Given the description of an element on the screen output the (x, y) to click on. 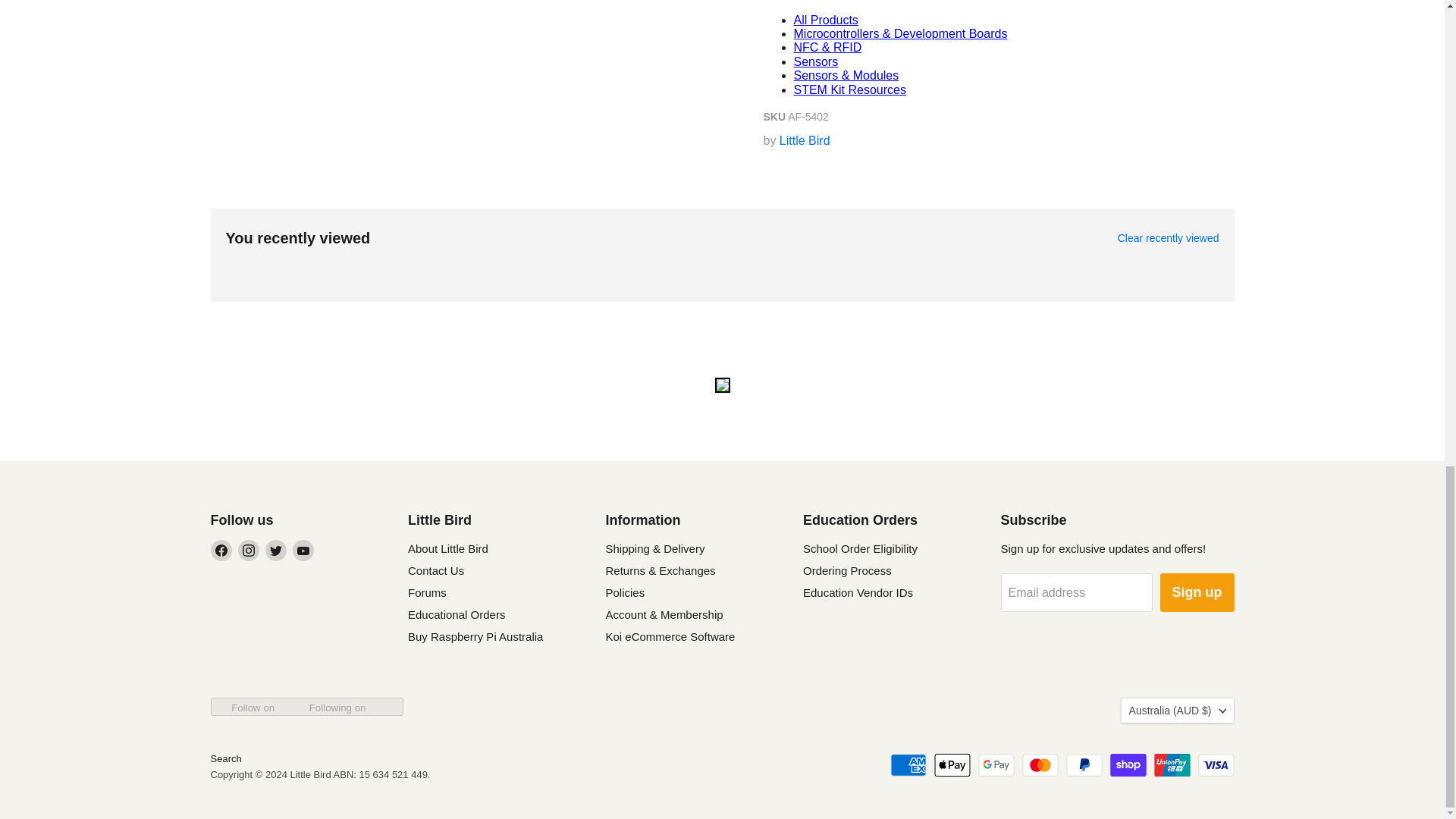
Buy All Products in Australia (825, 19)
Shop Pay (1128, 764)
Buy Sensors in Australia (815, 61)
Union Pay (1172, 764)
American Express (907, 764)
PayPal (1083, 764)
Facebook (221, 550)
Apple Pay (952, 764)
Little Bird (803, 140)
Mastercard (1040, 764)
